Given the description of an element on the screen output the (x, y) to click on. 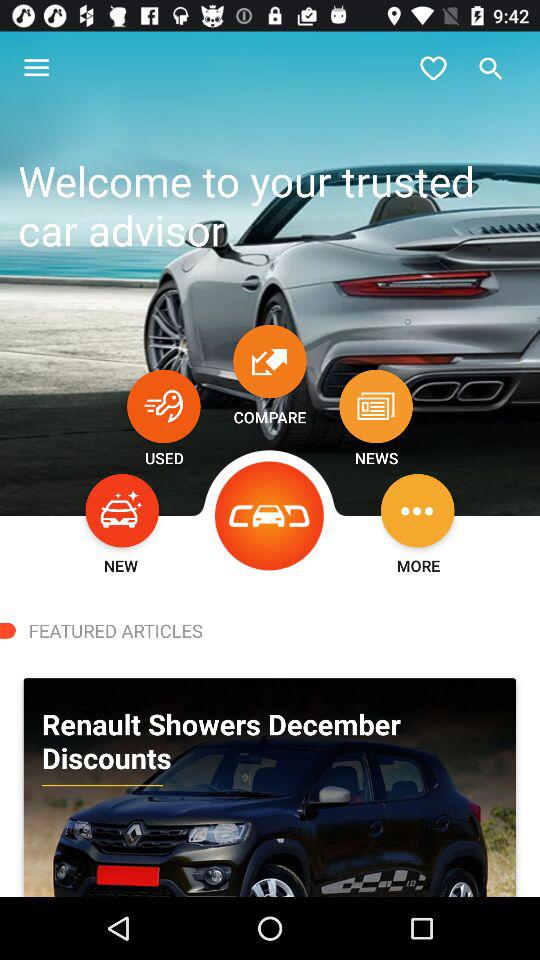
choose item below the used icon (121, 510)
